Given the description of an element on the screen output the (x, y) to click on. 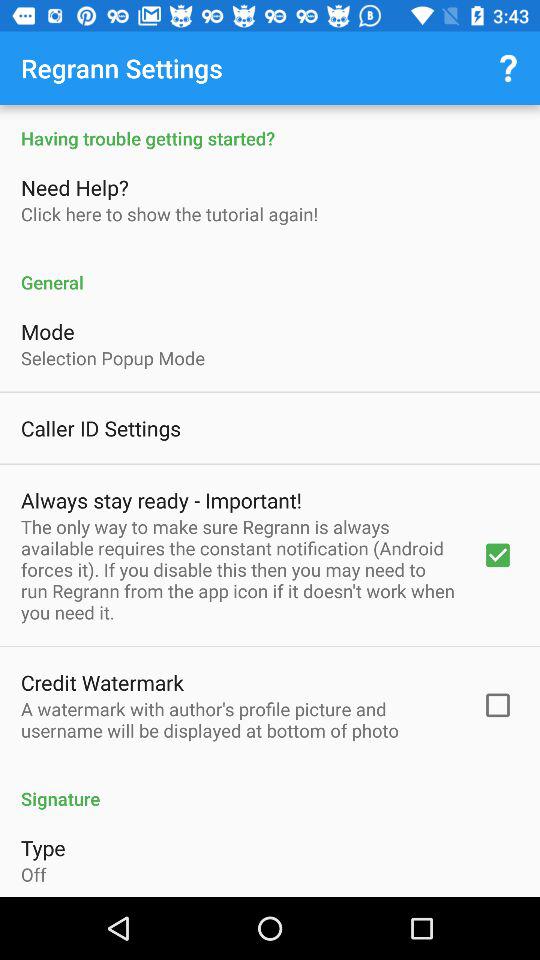
flip to the signature icon (270, 788)
